Given the description of an element on the screen output the (x, y) to click on. 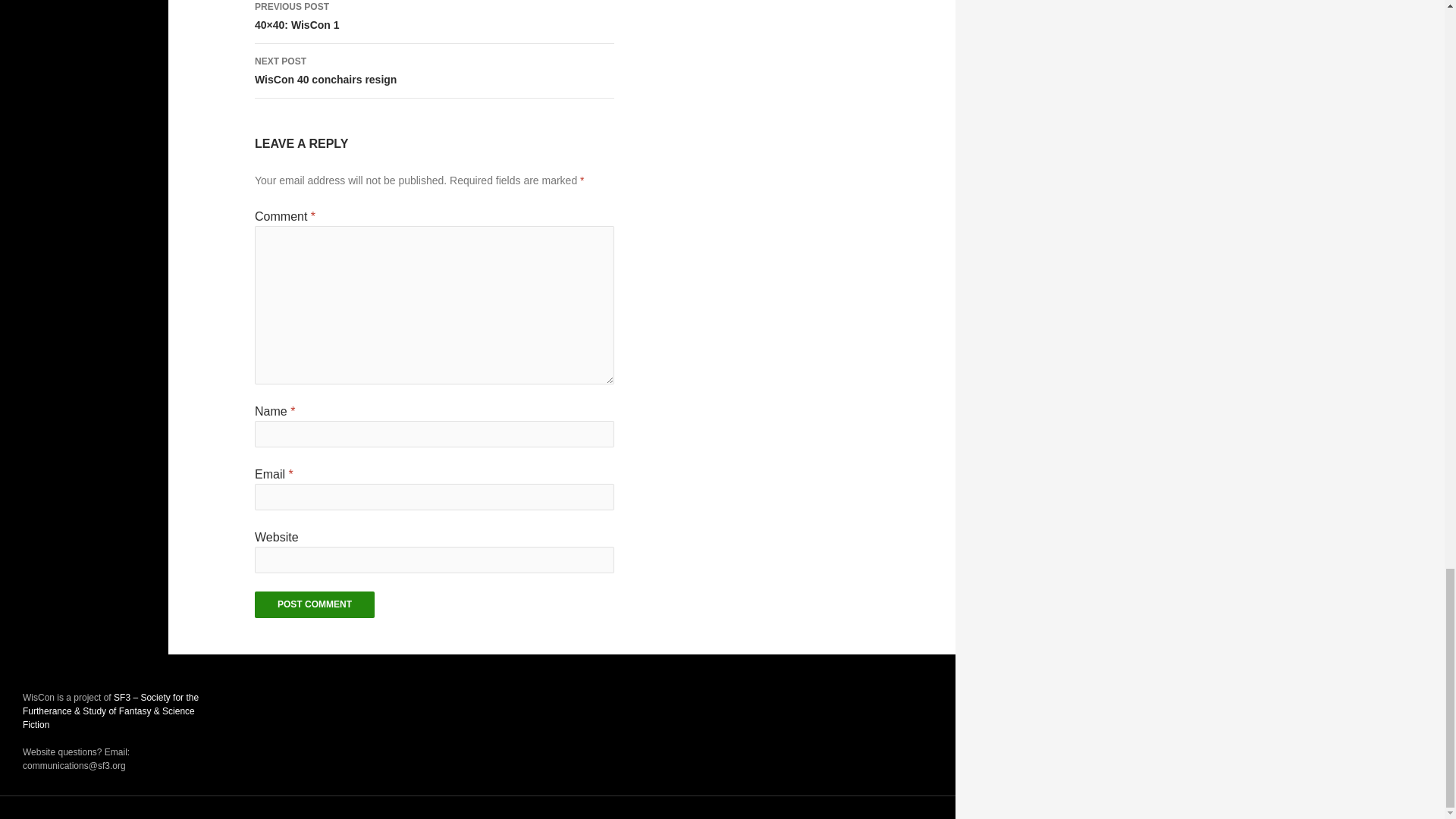
Post Comment (314, 604)
